Given the description of an element on the screen output the (x, y) to click on. 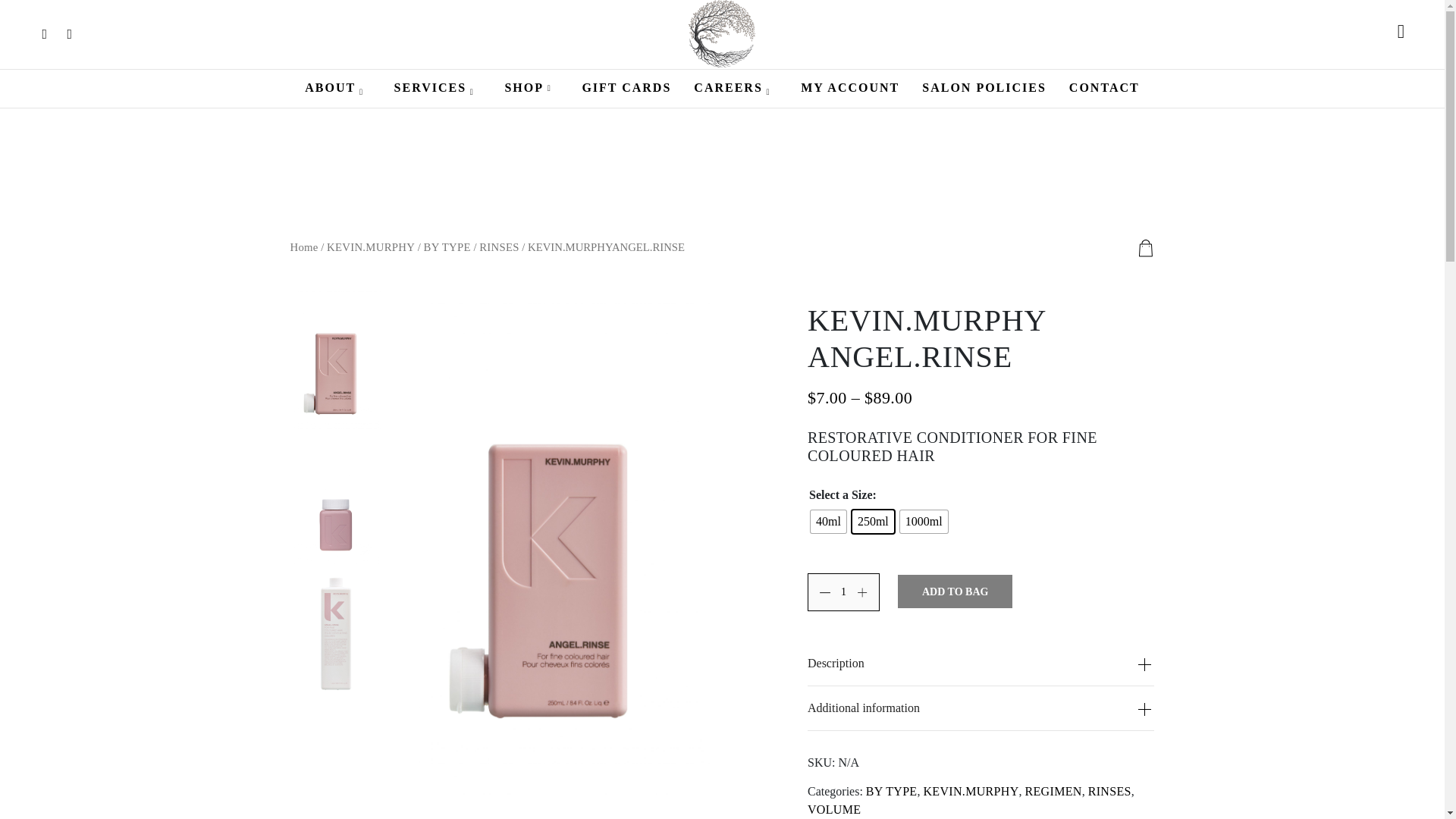
Qty (843, 591)
1000ml (923, 521)
SHOP (531, 88)
250ml (872, 521)
ABOUT (337, 88)
SERVICES (437, 88)
1 (843, 591)
40ml (827, 521)
